Given the description of an element on the screen output the (x, y) to click on. 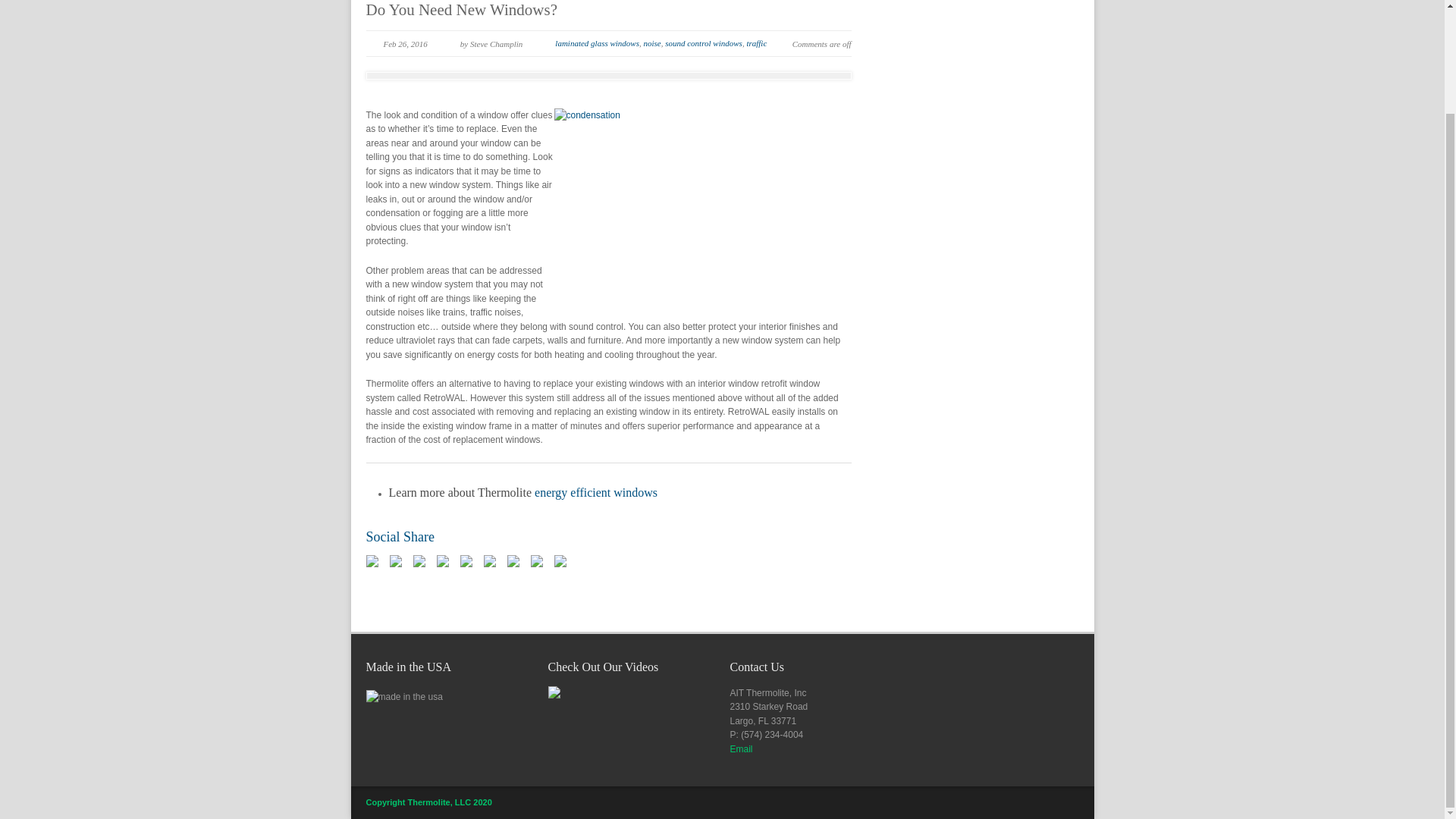
noise (652, 42)
Do You Need New Windows? (461, 9)
sound control windows (703, 42)
laminated glass windows (596, 42)
